Given the description of an element on the screen output the (x, y) to click on. 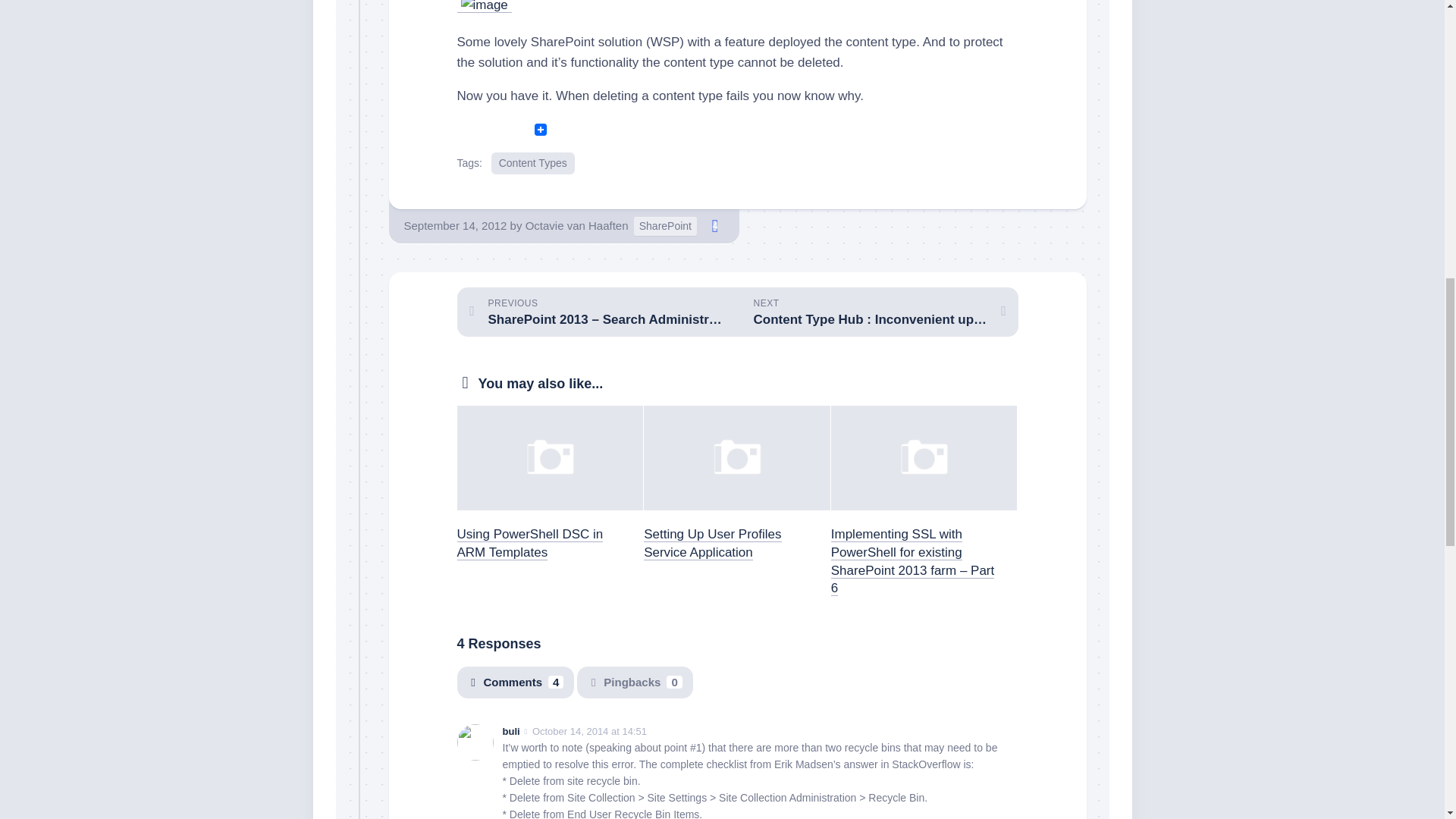
4 (714, 226)
Using PowerShell DSC in ARM Templates (529, 543)
Posts by Octavie van Haaften (576, 225)
October 14, 2014 at 14:51 (589, 731)
Setting Up User Profiles Service Application (711, 543)
image (876, 311)
Comments4 (484, 7)
Content Types (515, 682)
buli (533, 163)
Octavie van Haaften (510, 731)
Pingbacks0 (576, 225)
SharePoint (634, 682)
